Given the description of an element on the screen output the (x, y) to click on. 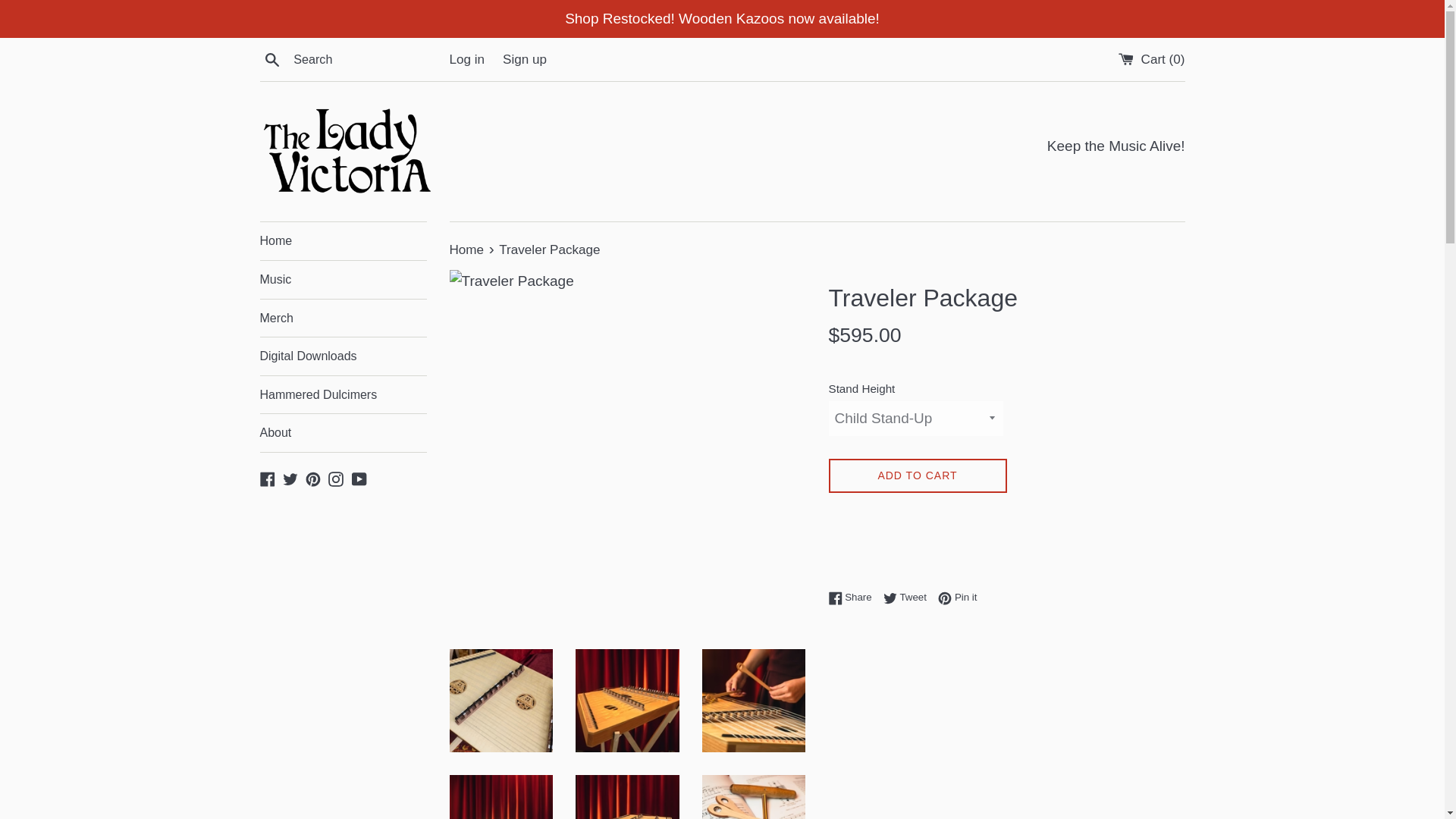
Sign up (524, 59)
Merch (956, 596)
Hammered Dulcimers (342, 317)
Search (342, 394)
Back to the frontpage (271, 58)
Share on Facebook (467, 249)
Home (853, 596)
ADD TO CART (467, 249)
The Lady Victoria Hammered Dulcimers on Twitter (917, 475)
